Given the description of an element on the screen output the (x, y) to click on. 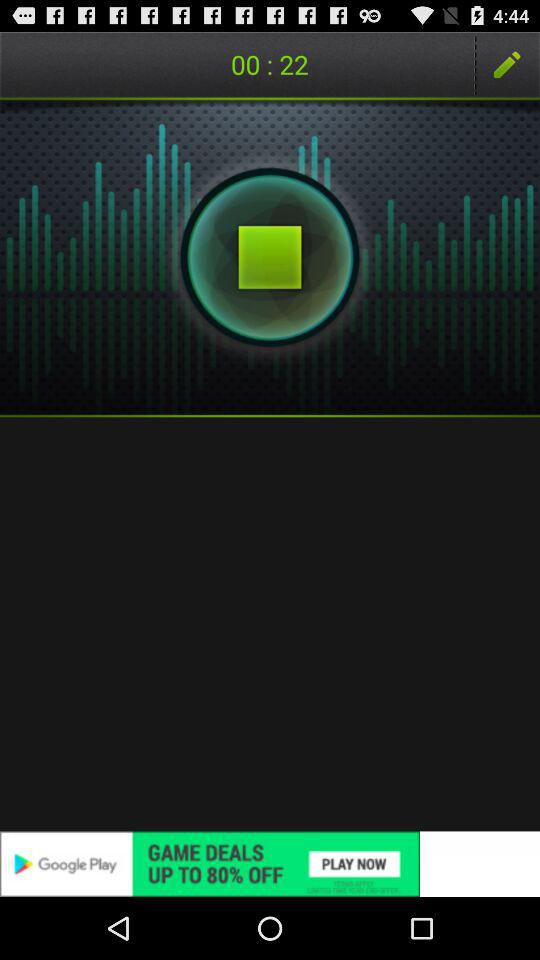
go to advertisement 's website (270, 864)
